Given the description of an element on the screen output the (x, y) to click on. 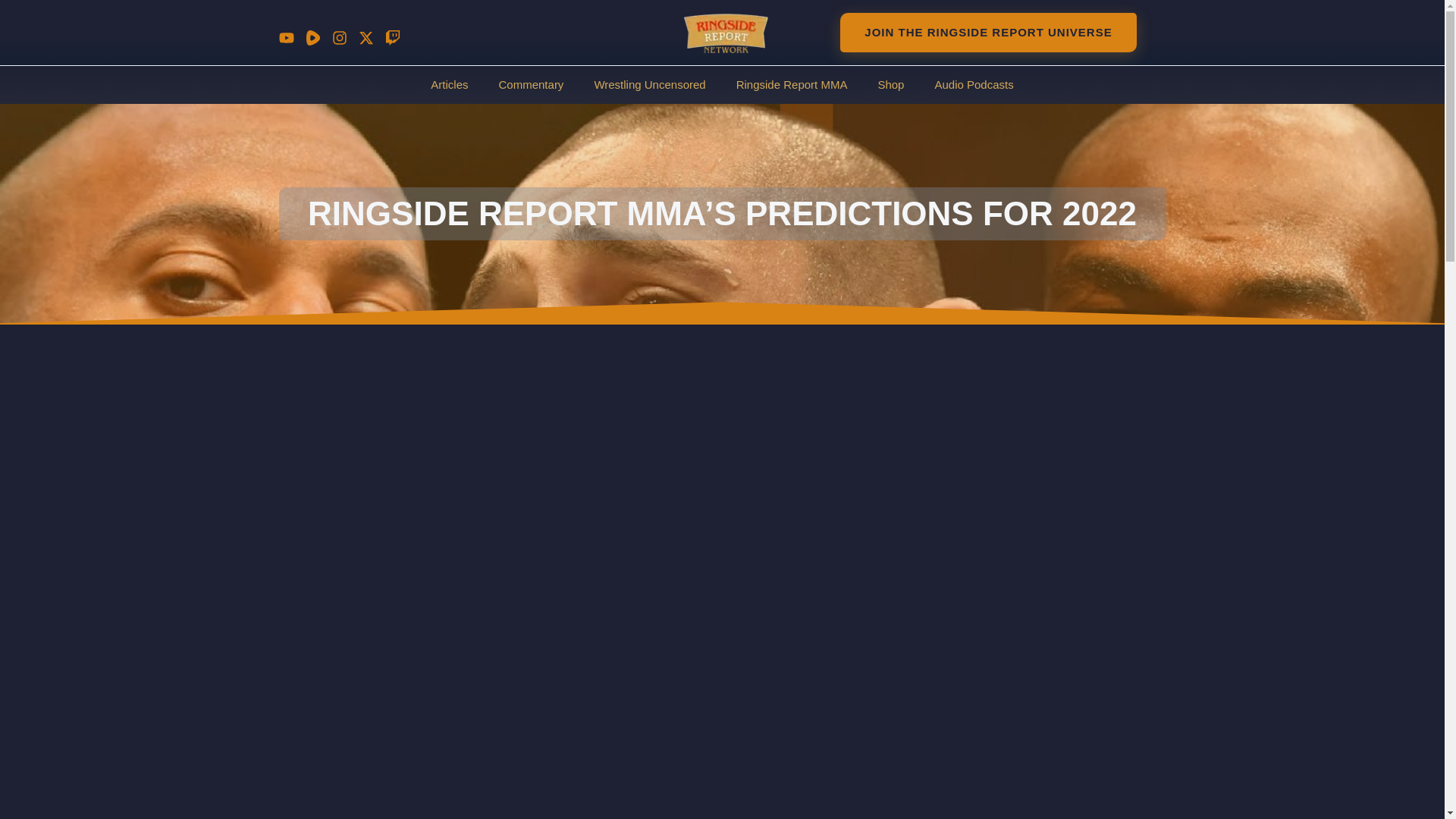
Wrestling Uncensored (649, 85)
JOIN THE RINGSIDE REPORT UNIVERSE (987, 32)
Audio Podcasts (972, 85)
Ringside Report MMA (791, 85)
Commentary (531, 85)
Articles (448, 85)
Shop (889, 85)
